Given the description of an element on the screen output the (x, y) to click on. 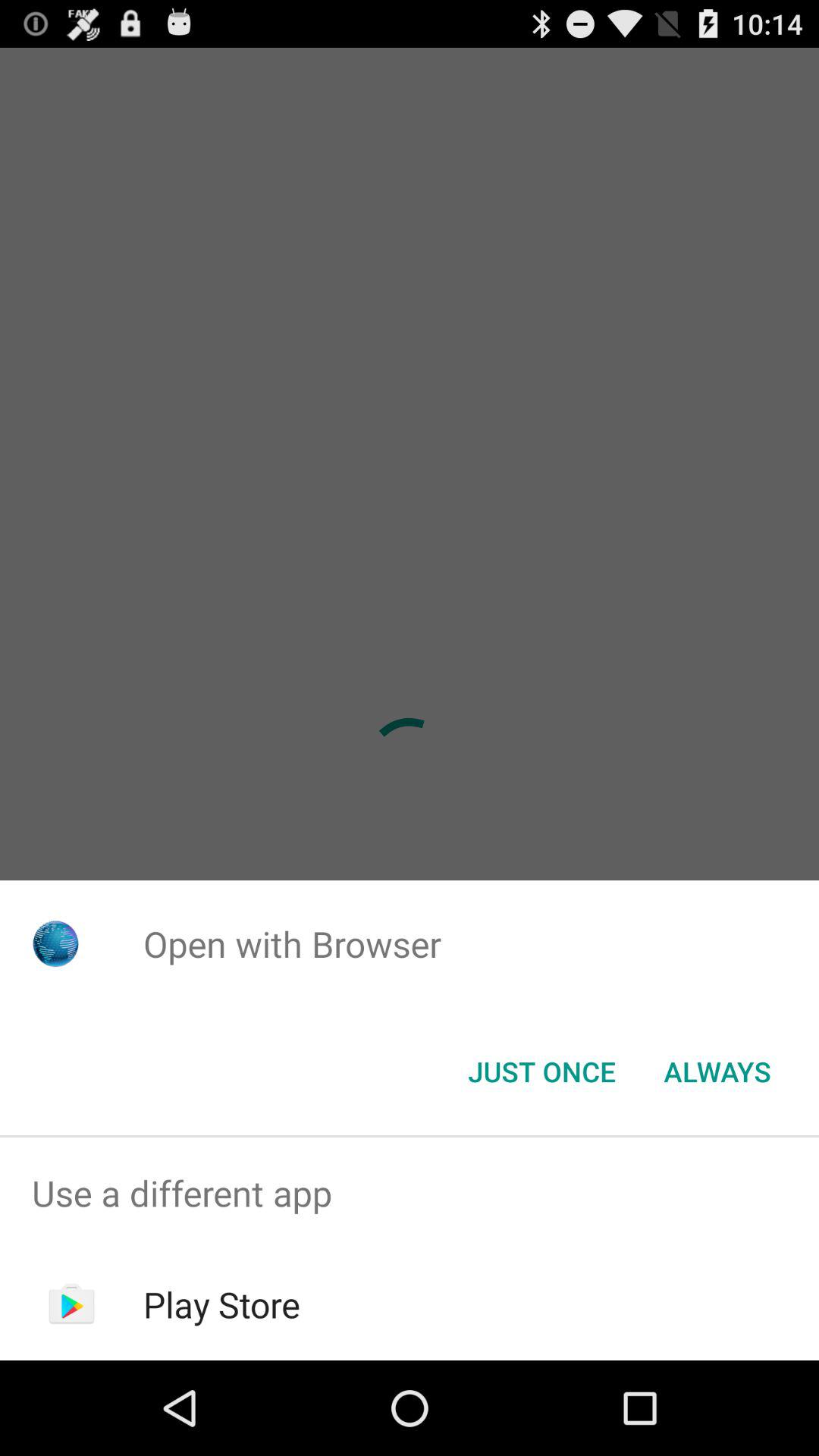
turn off the icon to the right of just once item (717, 1071)
